Given the description of an element on the screen output the (x, y) to click on. 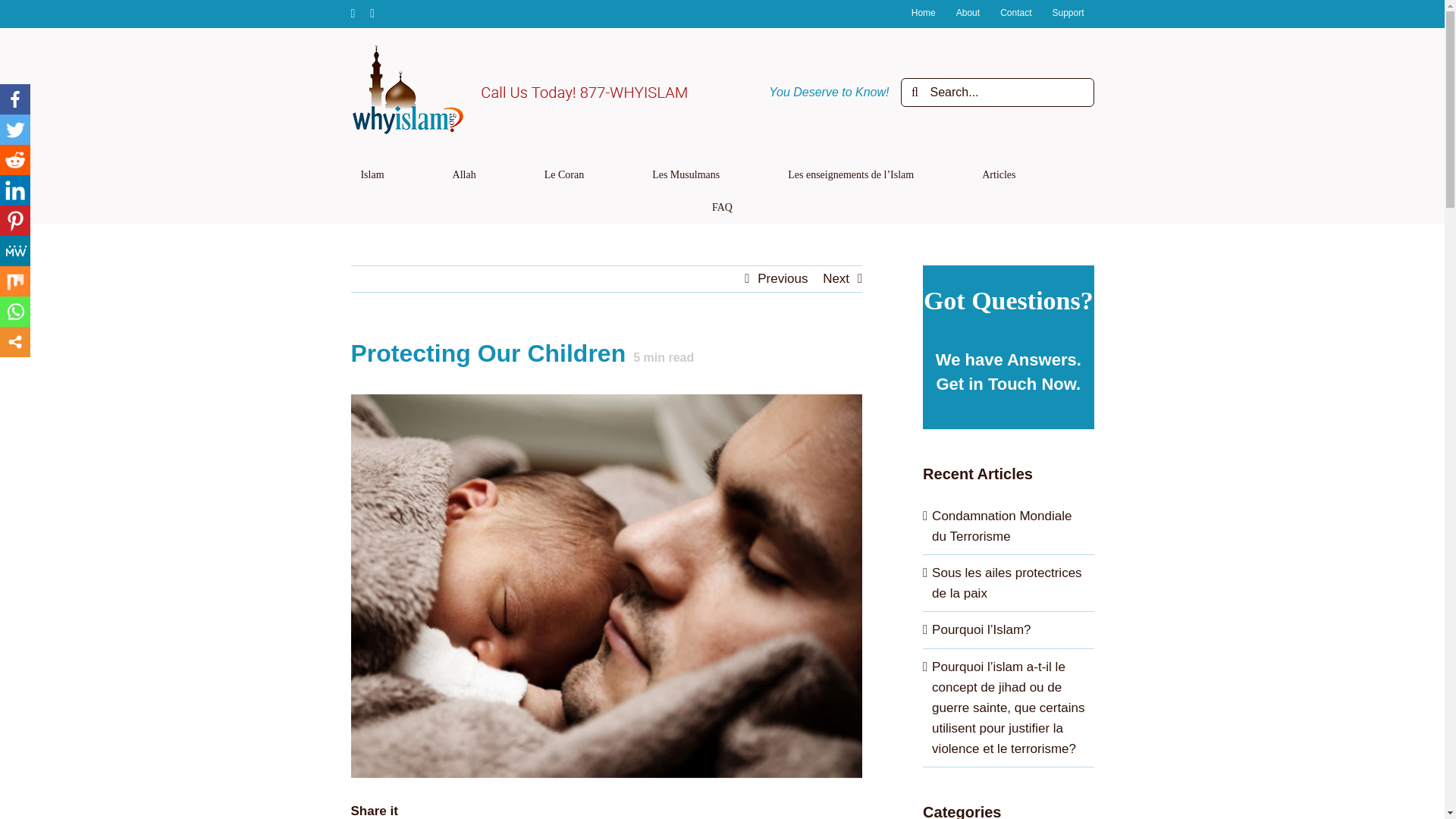
Reddit (15, 159)
LinkedIn (15, 190)
Pinterest (15, 220)
About (968, 13)
Twitter (15, 129)
Le Coran (563, 174)
Facebook (15, 99)
Contact (1015, 13)
Support (1067, 13)
Home (922, 13)
